Given the description of an element on the screen output the (x, y) to click on. 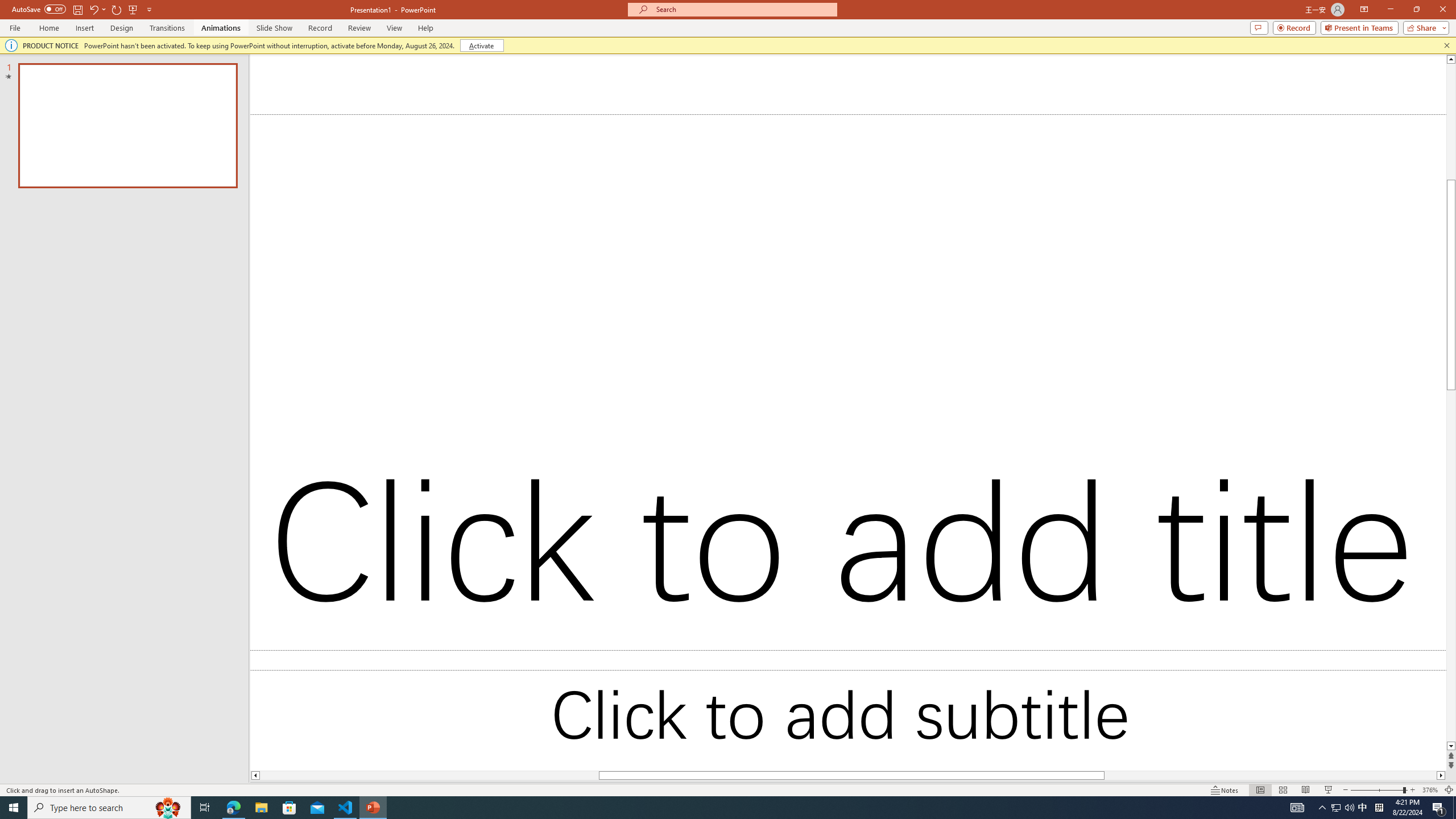
Undo Typing (159, 18)
Align Left (407, 102)
Subtle Emphasis (1369, 358)
Change Case (297, 77)
Class: NetUIButton (1364, 745)
Shading RGB(0, 0, 0) (558, 102)
